Given the description of an element on the screen output the (x, y) to click on. 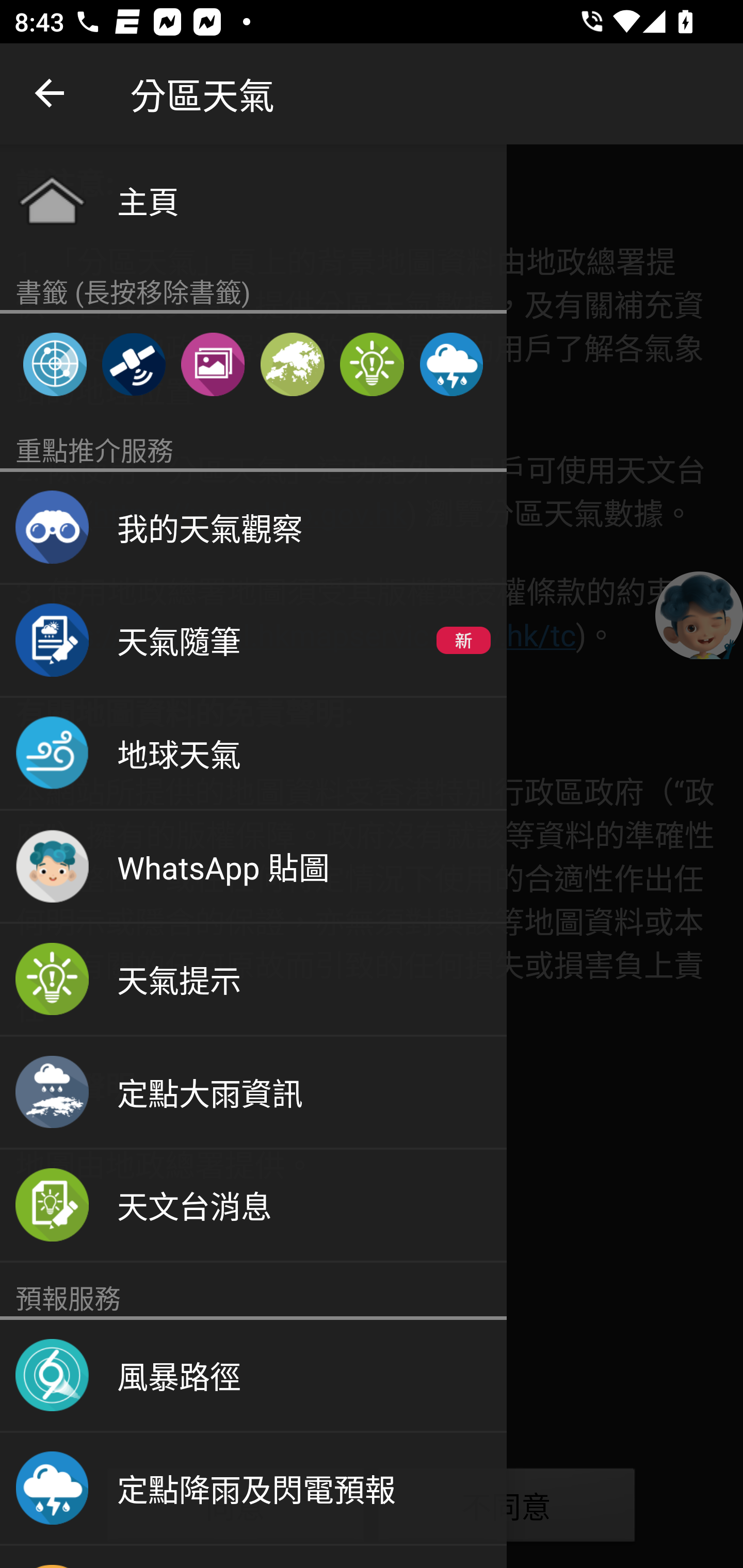
向上瀏覽 (50, 93)
主頁 (253, 199)
雷達圖像 (54, 364)
衛星圖像 (133, 364)
天氣照片 (212, 364)
分區天氣 (292, 364)
天氣提示 (371, 364)
定點降雨及閃電預報 (451, 364)
我的天氣觀察 (253, 527)
天氣隨筆 新功能 (253, 640)
地球天氣 (253, 753)
WhatsApp 貼圖 (253, 866)
天氣提示 (253, 979)
定點大雨資訊 (253, 1092)
天文台消息 (253, 1205)
風暴路徑 (253, 1375)
定點降雨及閃電預報 (253, 1488)
